Given the description of an element on the screen output the (x, y) to click on. 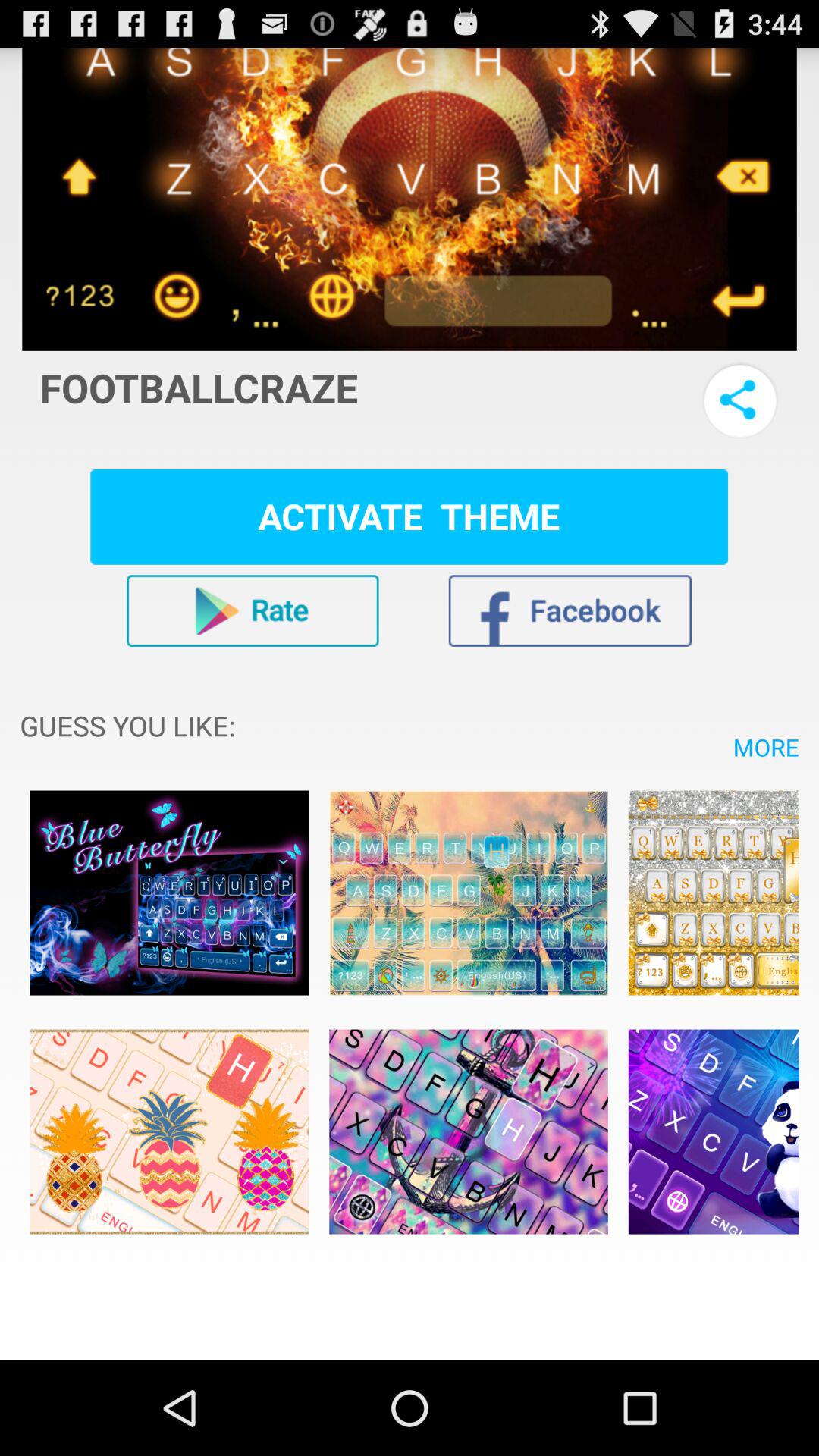
rate app (252, 610)
